Given the description of an element on the screen output the (x, y) to click on. 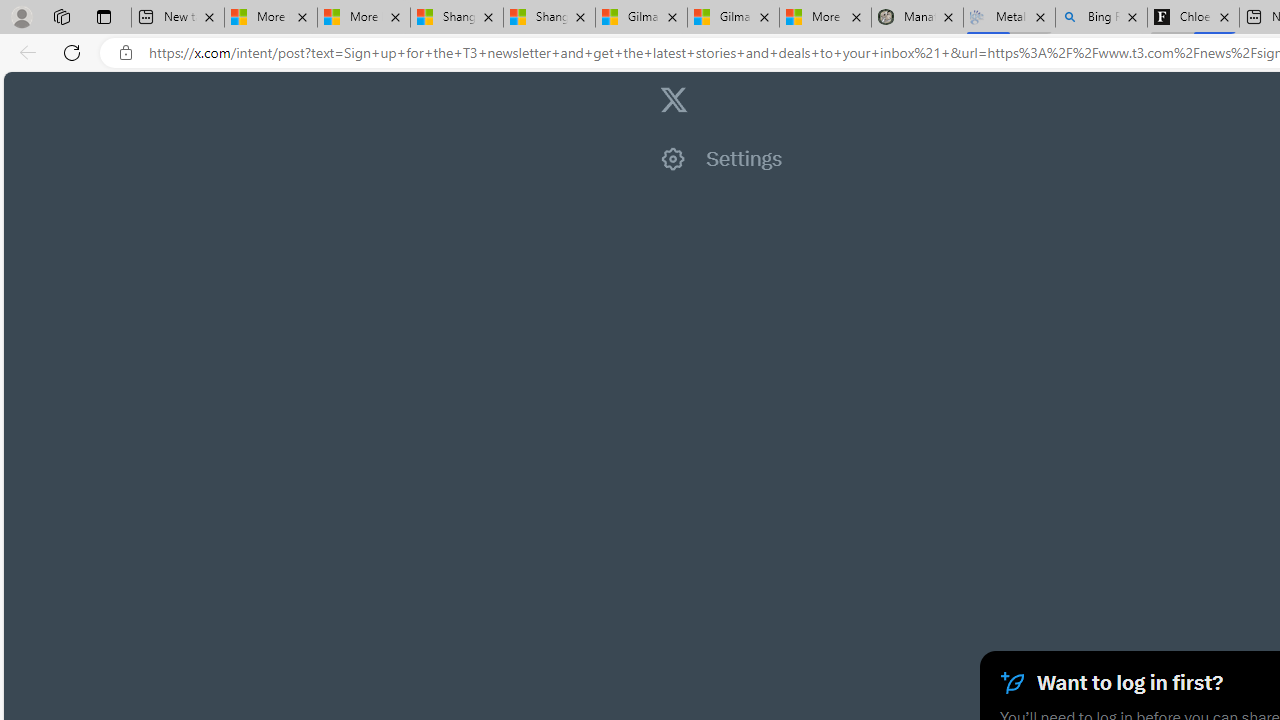
View site information (125, 53)
Gilma and Hector both pose tropical trouble for Hawaii (733, 17)
Manatee Mortality Statistics | FWC (916, 17)
Personal Profile (21, 16)
Back (24, 52)
Tab actions menu (104, 16)
Workspaces (61, 16)
Shanghai, China weather forecast | Microsoft Weather (549, 17)
Chloe Sorvino (1193, 17)
